Given the description of an element on the screen output the (x, y) to click on. 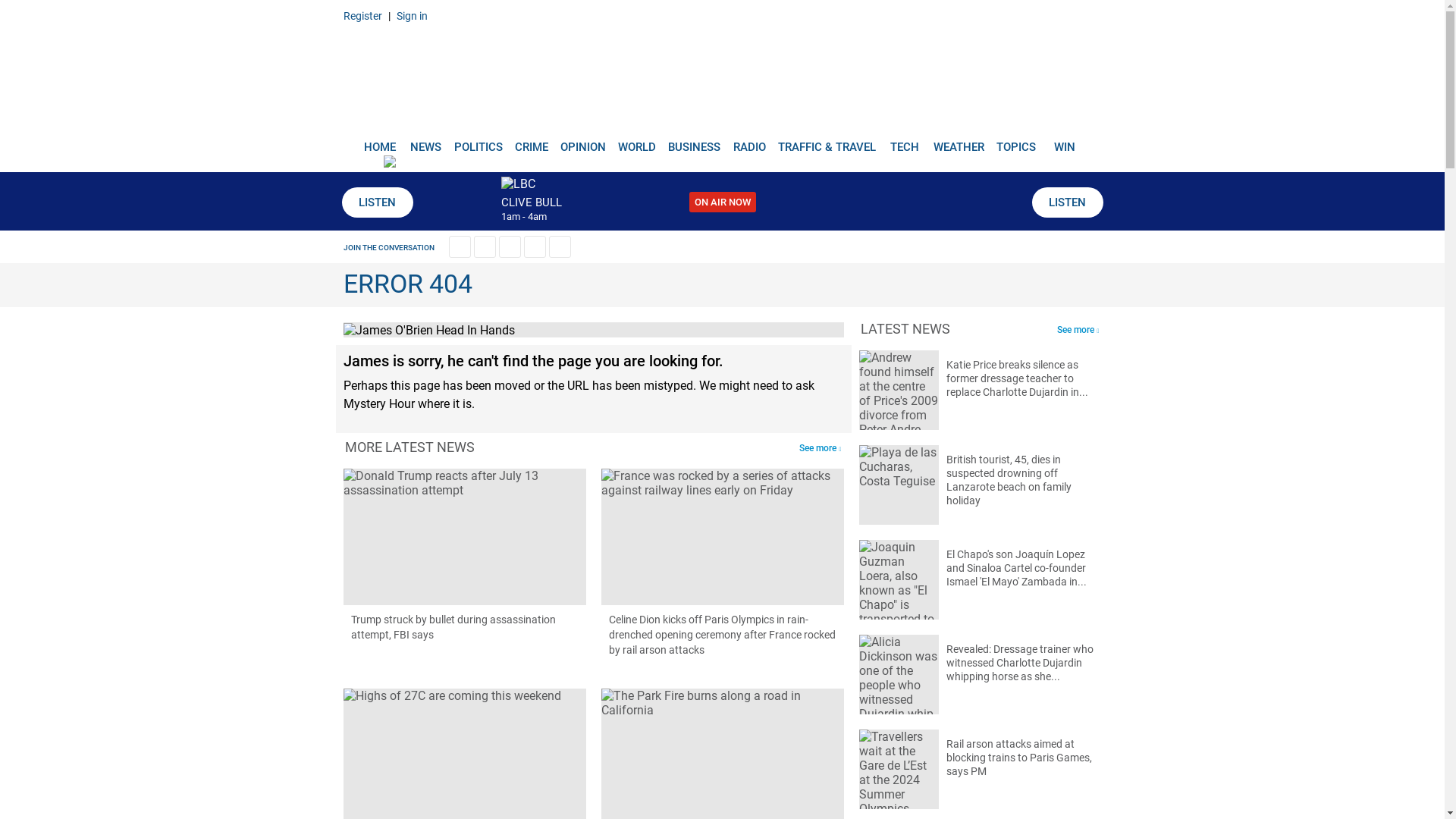
Sign in (411, 15)
CLIVE BULL (530, 202)
POLITICS (478, 140)
LISTEN (376, 202)
OPINION (582, 140)
WEATHER (958, 140)
BUSINESS (694, 140)
HOME (379, 140)
Register (361, 15)
NEWS (425, 140)
WORLD (636, 140)
RADIO (748, 140)
LISTEN (1066, 202)
TOPICS (1016, 140)
CRIME (531, 140)
